Given the description of an element on the screen output the (x, y) to click on. 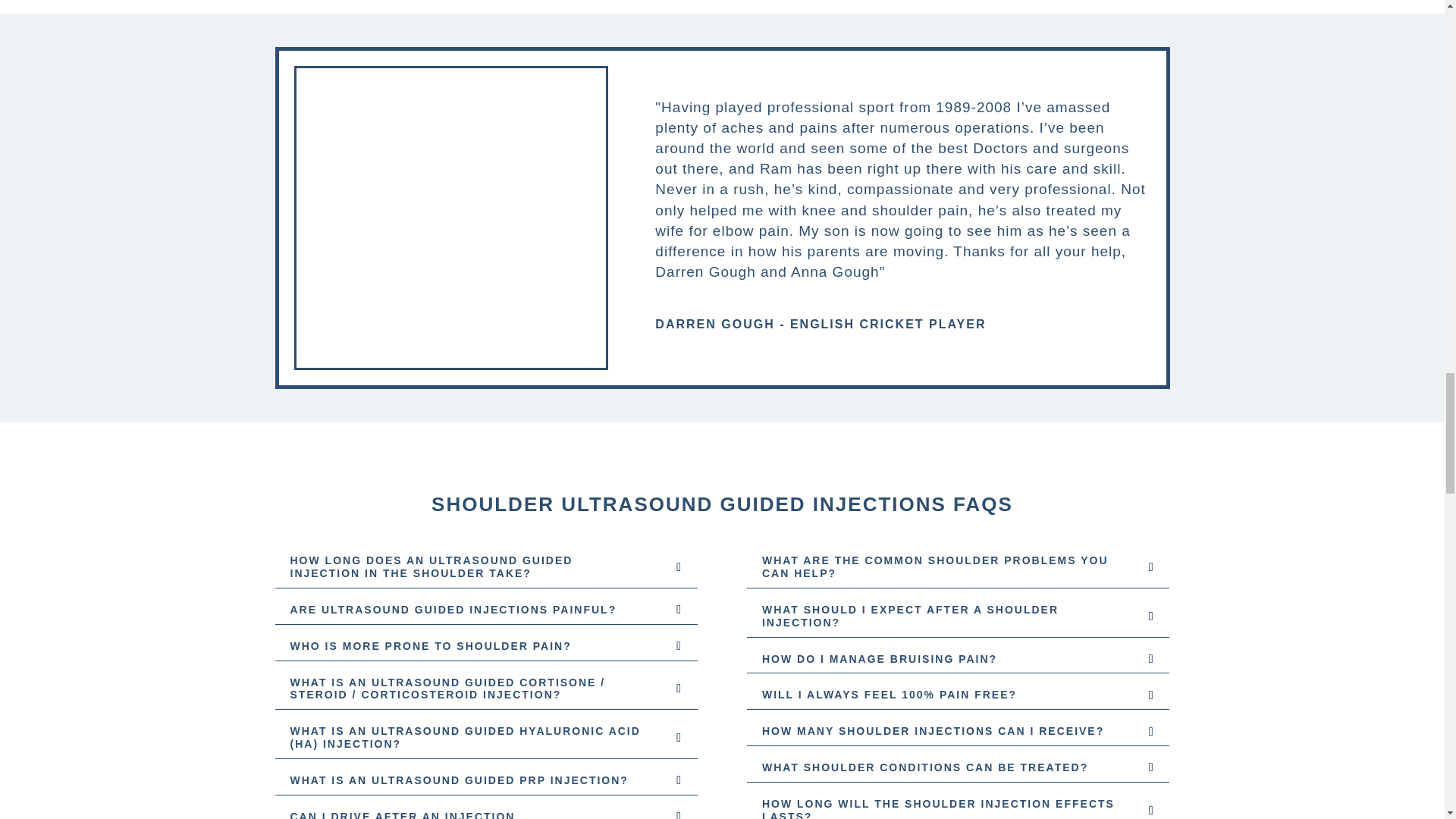
Darren Gough Cricketer (450, 363)
